Given the description of an element on the screen output the (x, y) to click on. 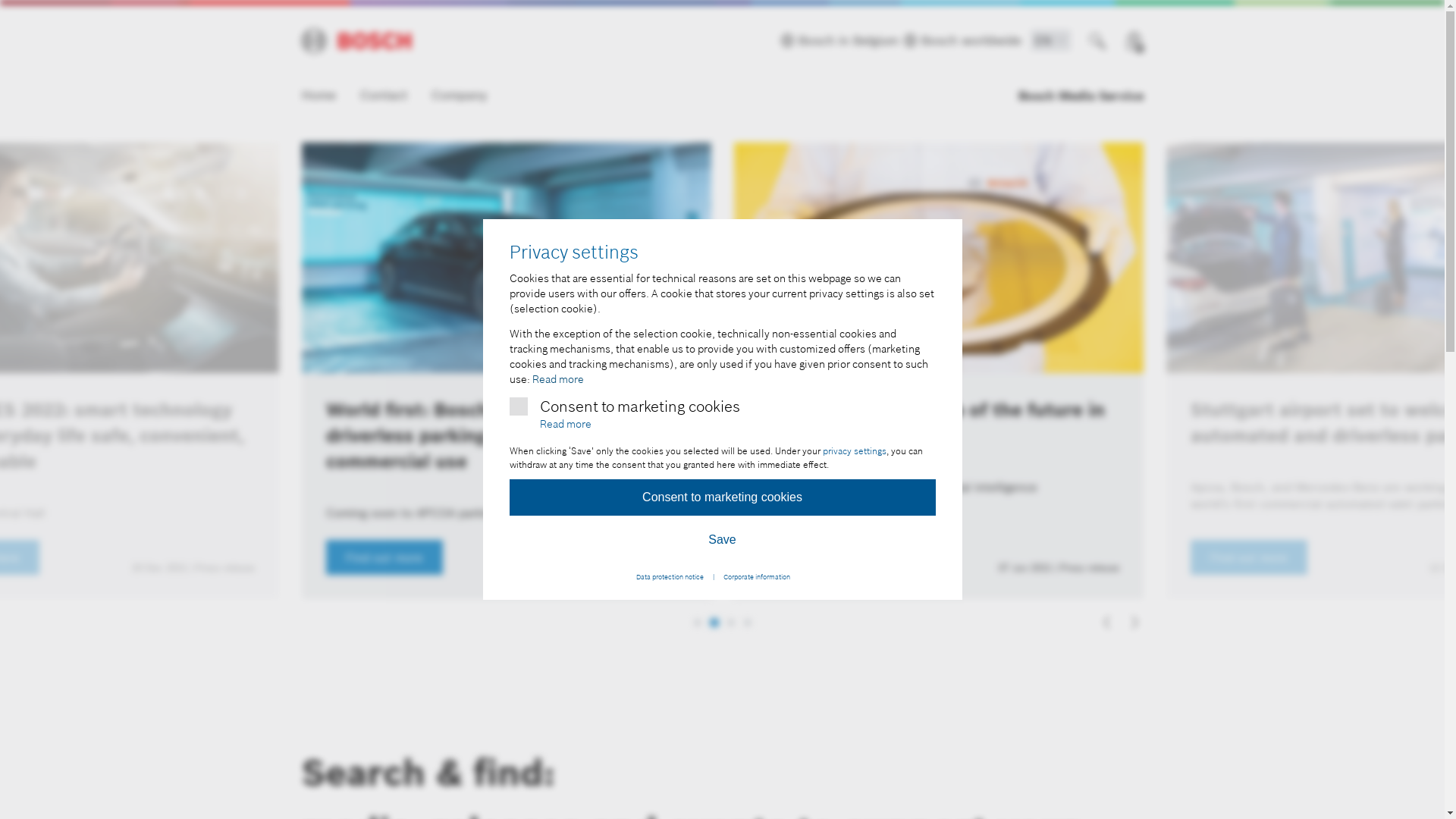
Contact Element type: text (382, 94)
Save Element type: text (722, 539)
Read more Element type: text (557, 379)
privacy settings Element type: text (853, 451)
Find out more here Element type: text (93, 556)
Find out more Element type: text (492, 556)
globe Element type: hover (909, 39)
Company Element type: text (458, 94)
globe Element type: hover (786, 39)
0 Element type: text (1129, 40)
Consent to marketing cookies Element type: text (722, 497)
Corporate information Element type: text (756, 576)
Bosch opens wafer fab of the future in Dresden Element type: text (1023, 422)
Bosch Media Service Element type: text (1079, 95)
Data protection notice Element type: text (669, 576)
Bosch in Belgium Element type: text (840, 39)
Use search term Element type: hover (1097, 41)
Find out more here Element type: text (915, 556)
Home Element type: text (324, 94)
Bosch worldwide Element type: text (961, 39)
Find out more Element type: text (1319, 556)
Read more Element type: text (565, 424)
